Given the description of an element on the screen output the (x, y) to click on. 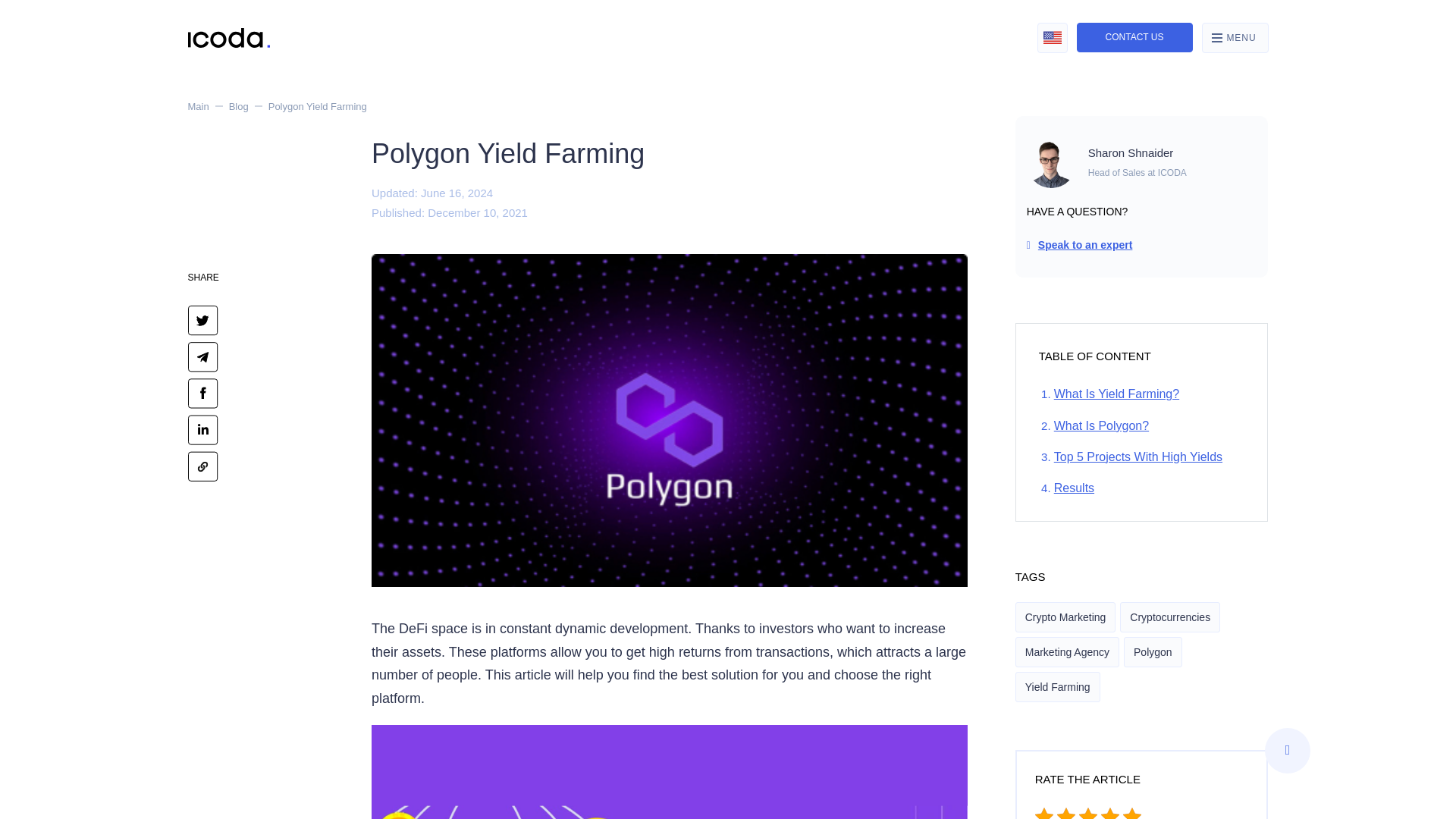
Share on Linkedin (202, 428)
Copy to clipboard (202, 464)
Share on Twitter (202, 318)
Share on Telegram (202, 355)
Share on Facebook (202, 391)
